Given the description of an element on the screen output the (x, y) to click on. 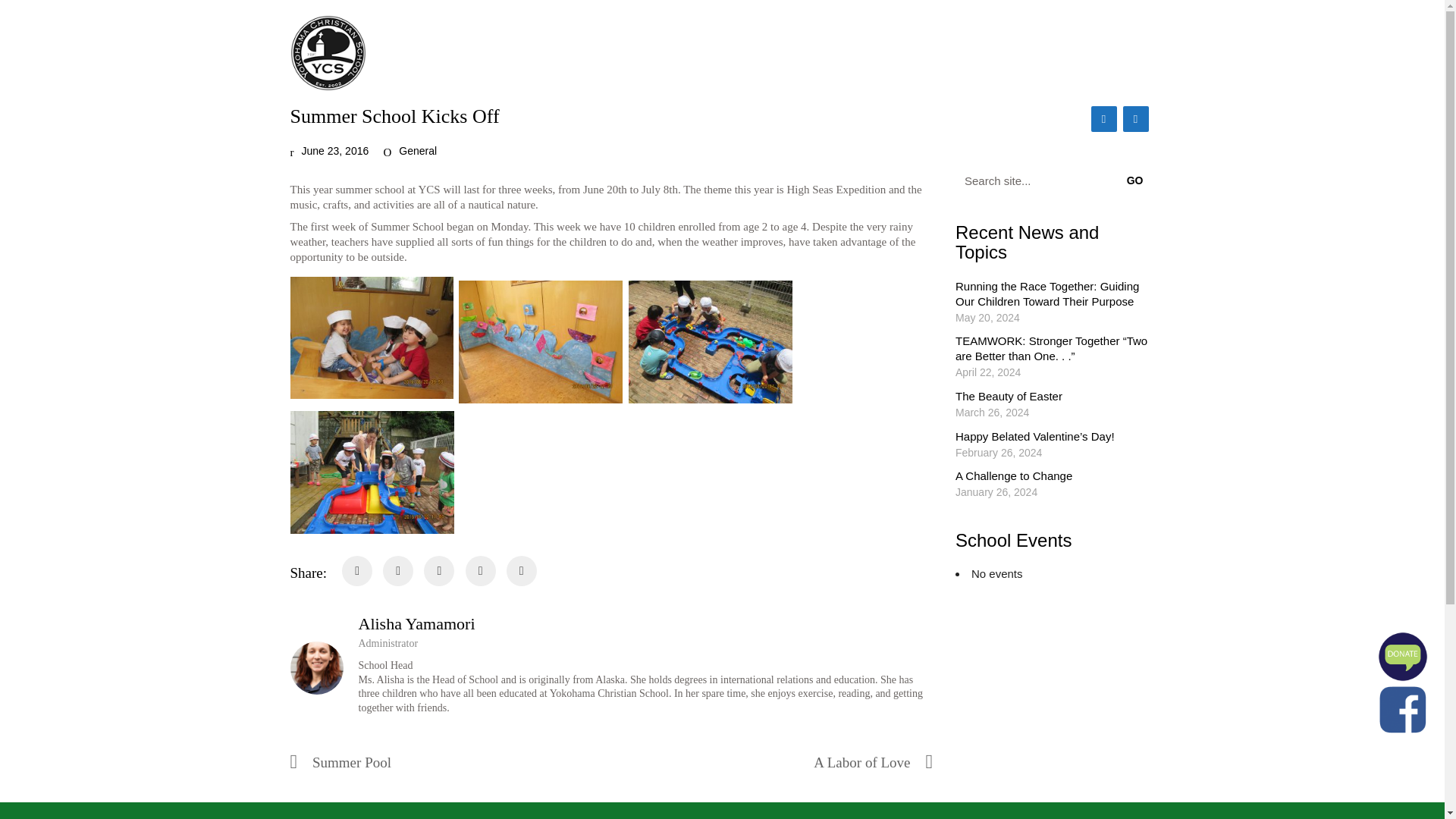
Vimeo (1135, 118)
Home (600, 52)
Facebook (1103, 118)
Search for: (1054, 180)
Go (1138, 180)
Go (1138, 180)
